Given the description of an element on the screen output the (x, y) to click on. 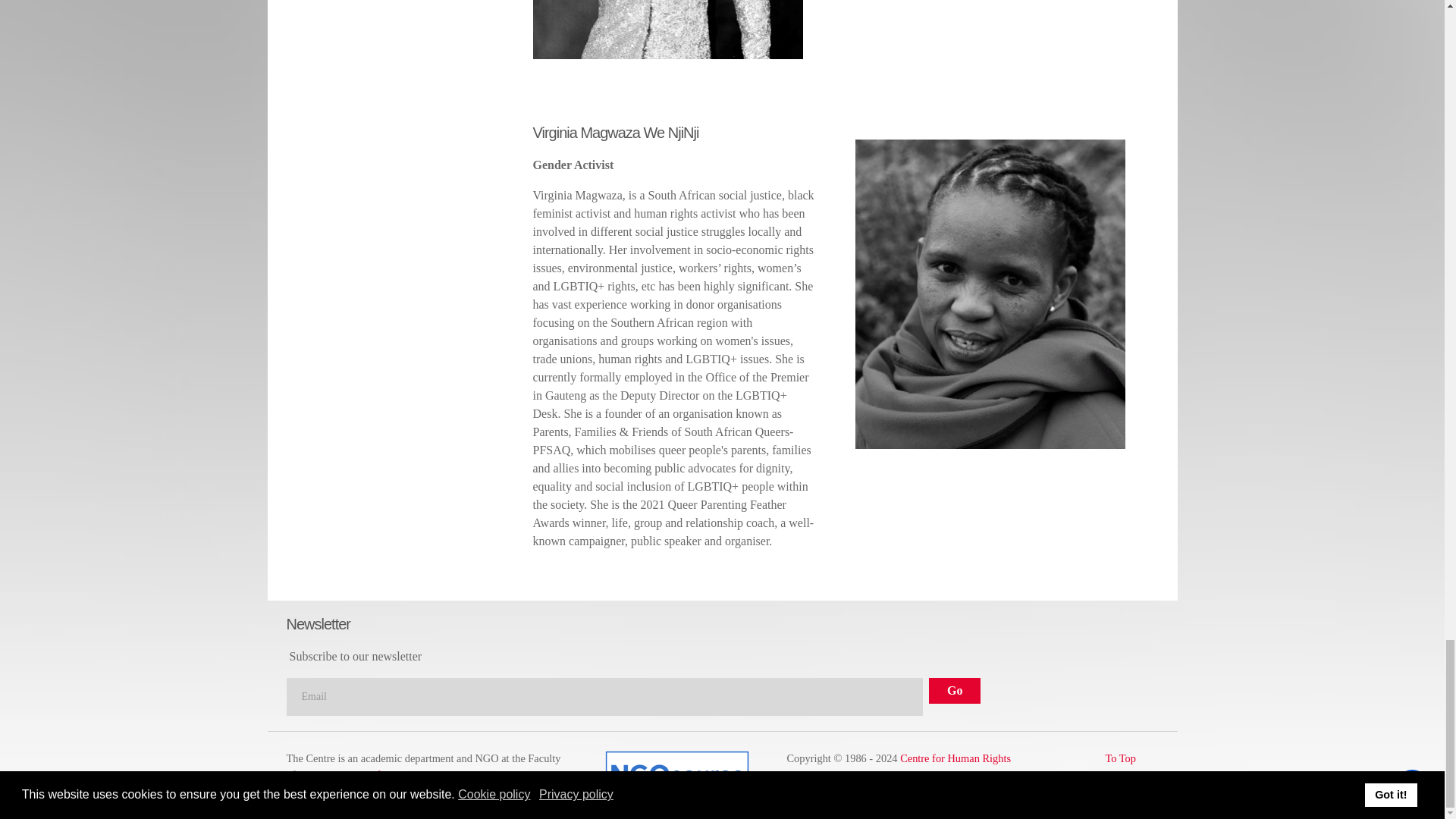
Centre for Human Rights (954, 758)
University of Pretoria (369, 775)
Go (953, 690)
